Given the description of an element on the screen output the (x, y) to click on. 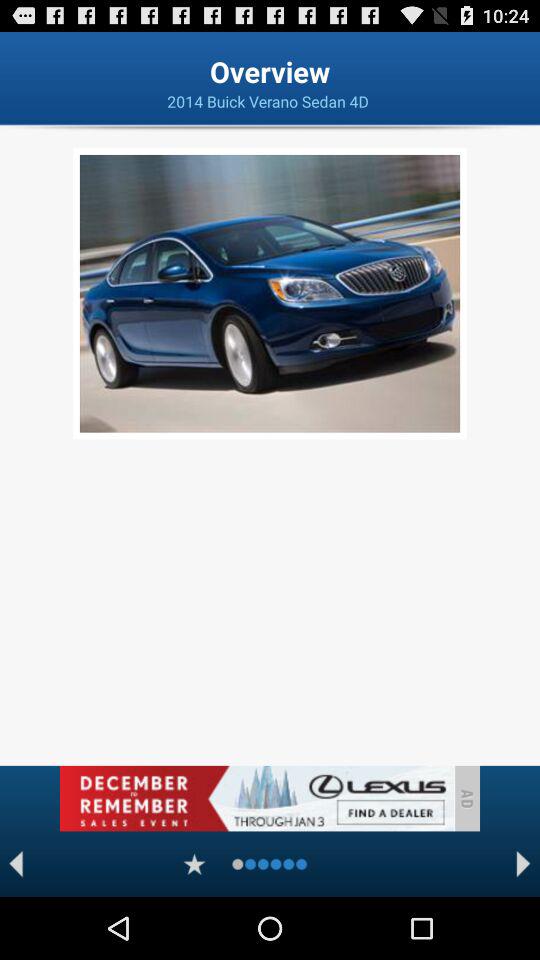
banner advertisement (256, 798)
